Given the description of an element on the screen output the (x, y) to click on. 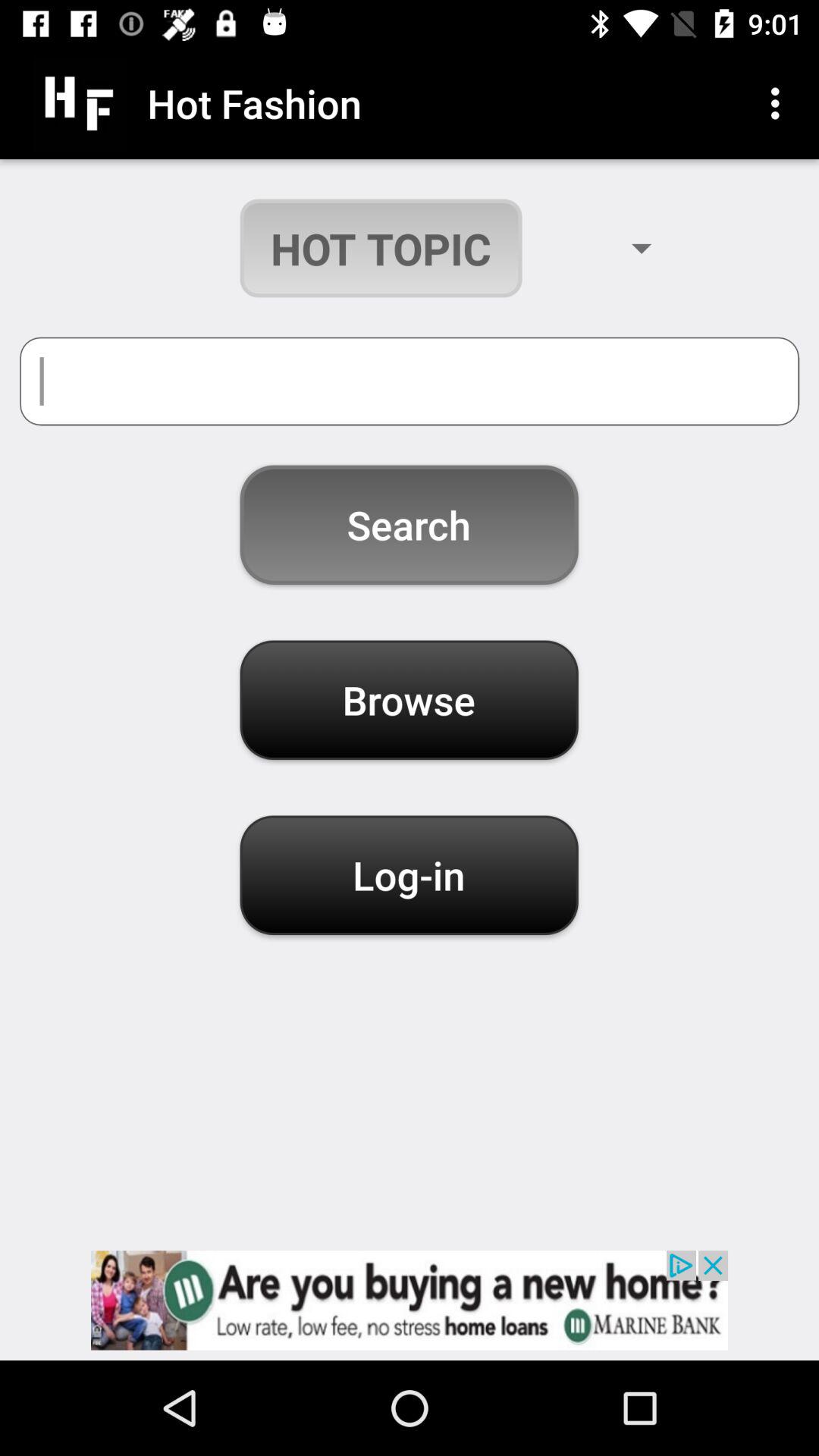
search (409, 381)
